Given the description of an element on the screen output the (x, y) to click on. 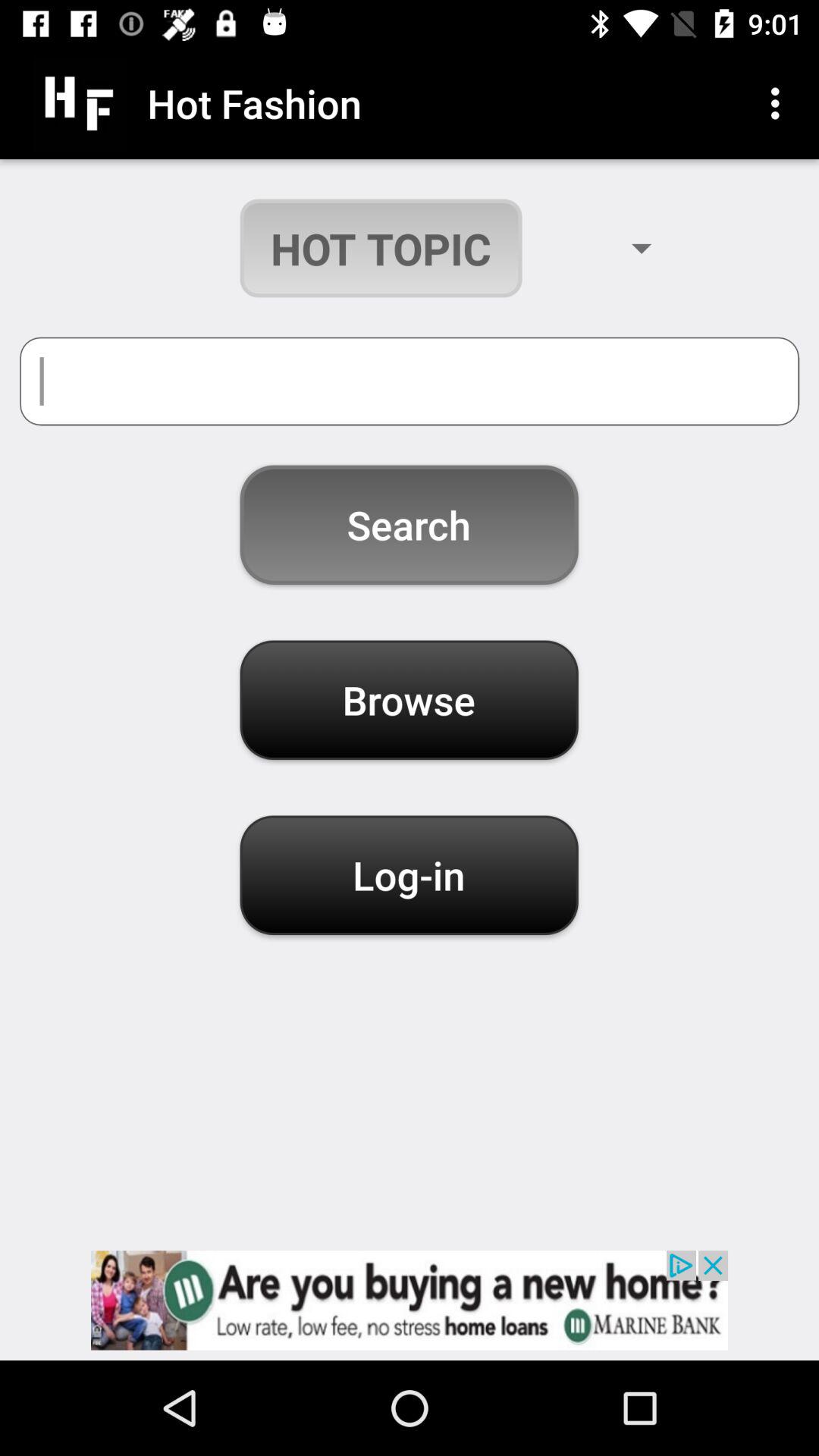
search (409, 381)
